Given the description of an element on the screen output the (x, y) to click on. 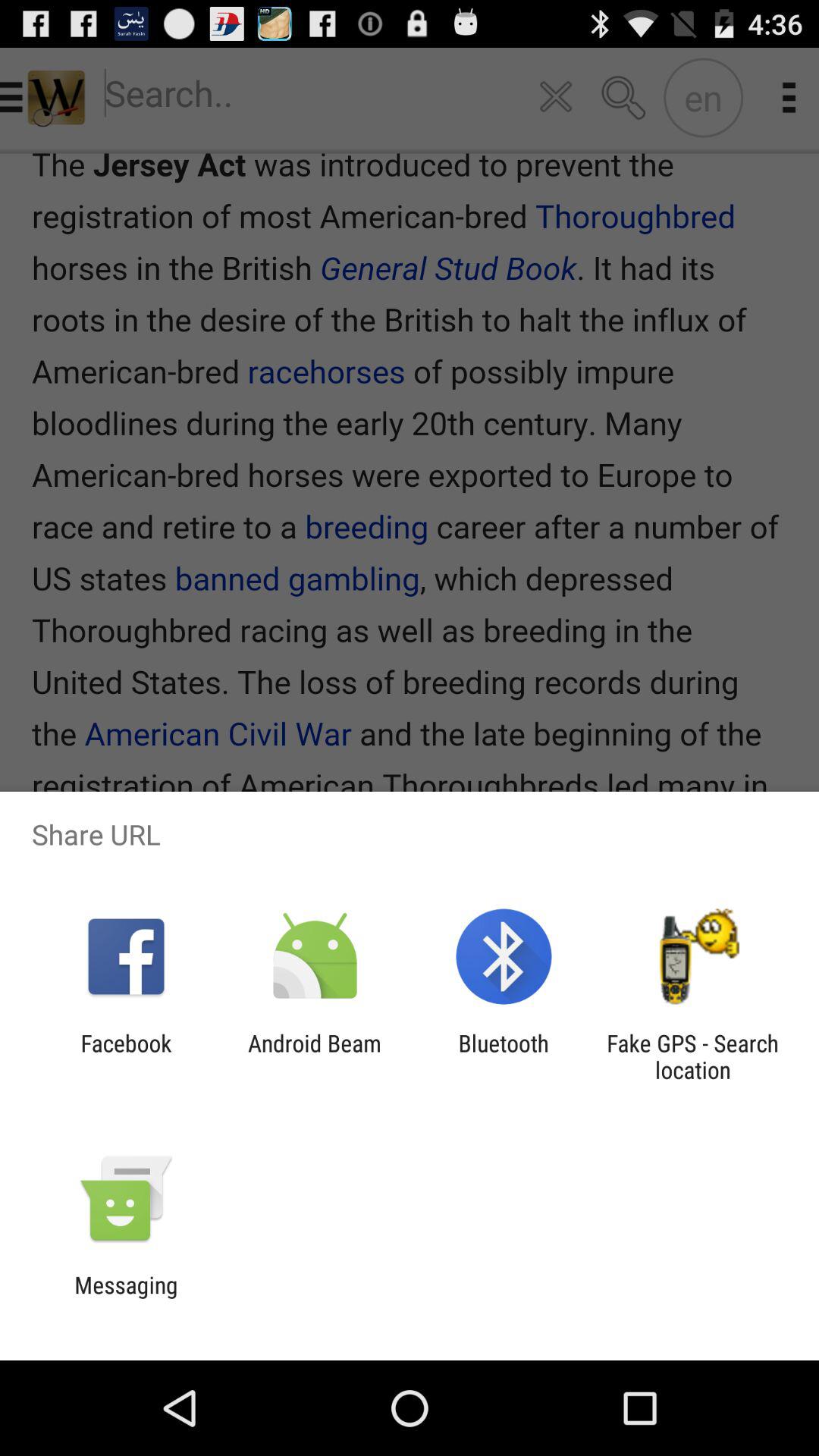
turn on the item to the right of the android beam icon (503, 1056)
